Given the description of an element on the screen output the (x, y) to click on. 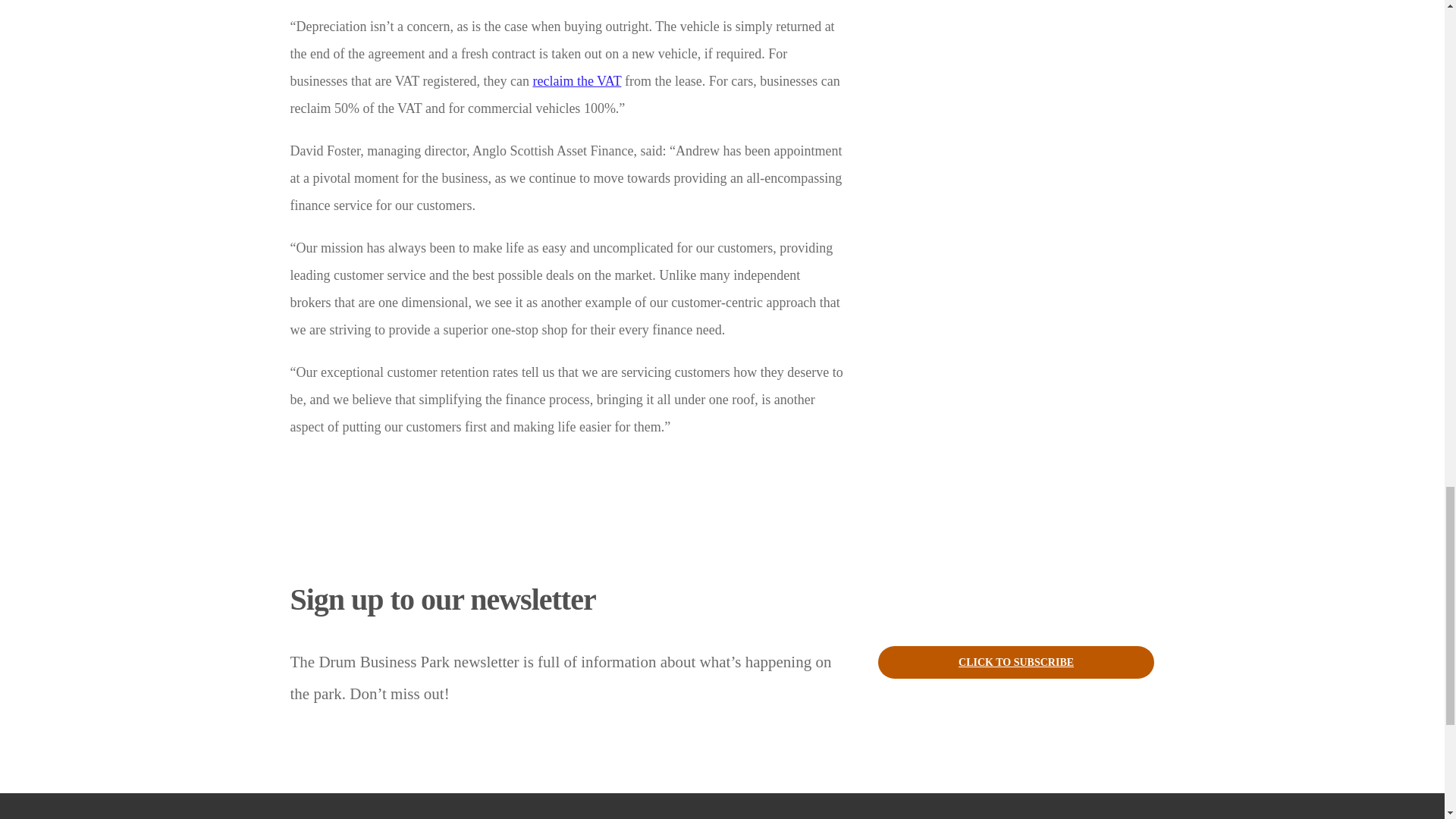
CLICK TO SUBSCRIBE (1015, 662)
reclaim the VAT (576, 80)
